Given the description of an element on the screen output the (x, y) to click on. 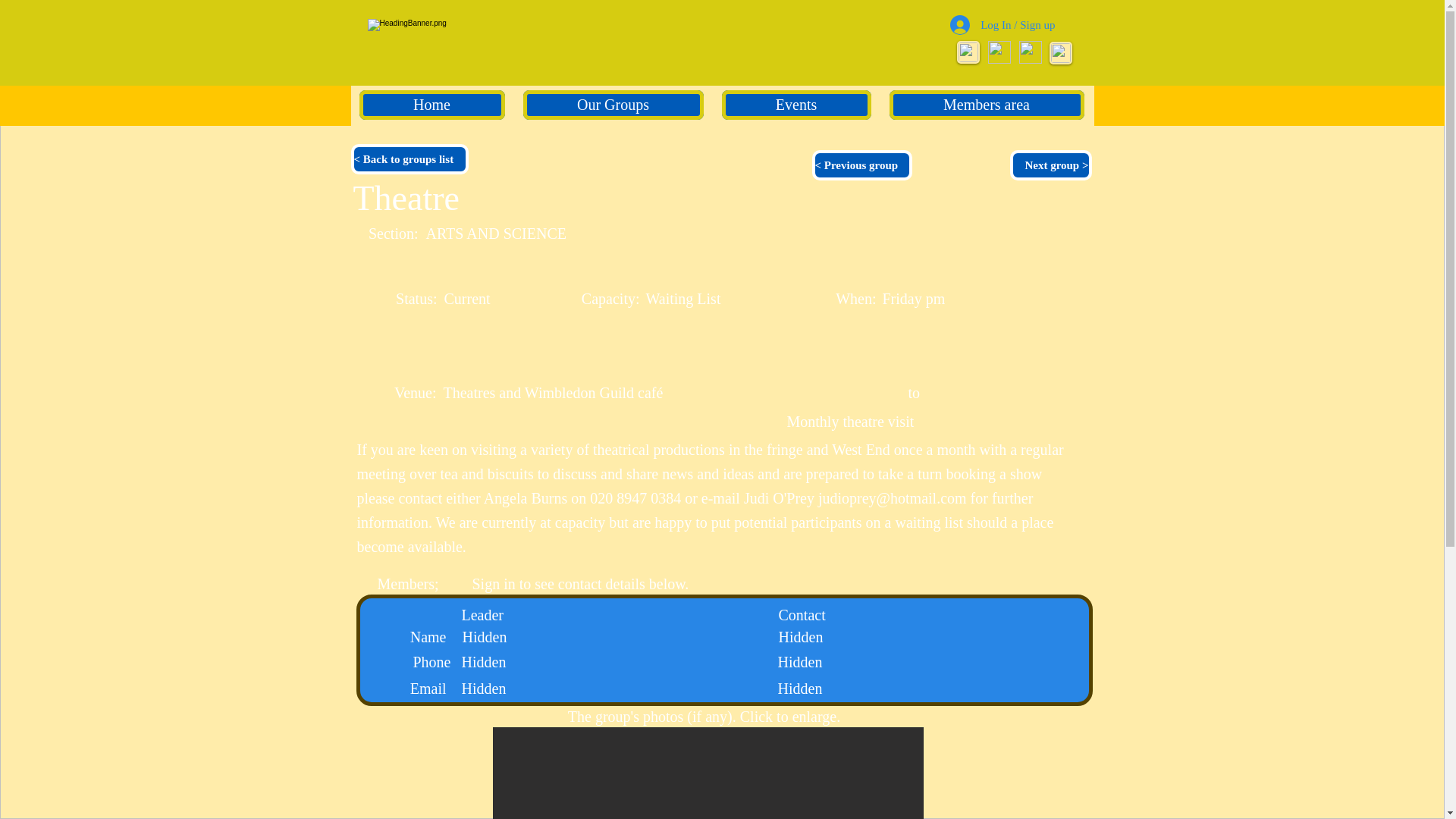
Home (432, 104)
Our Groups (612, 104)
Members area (985, 104)
Events (796, 104)
